Given the description of an element on the screen output the (x, y) to click on. 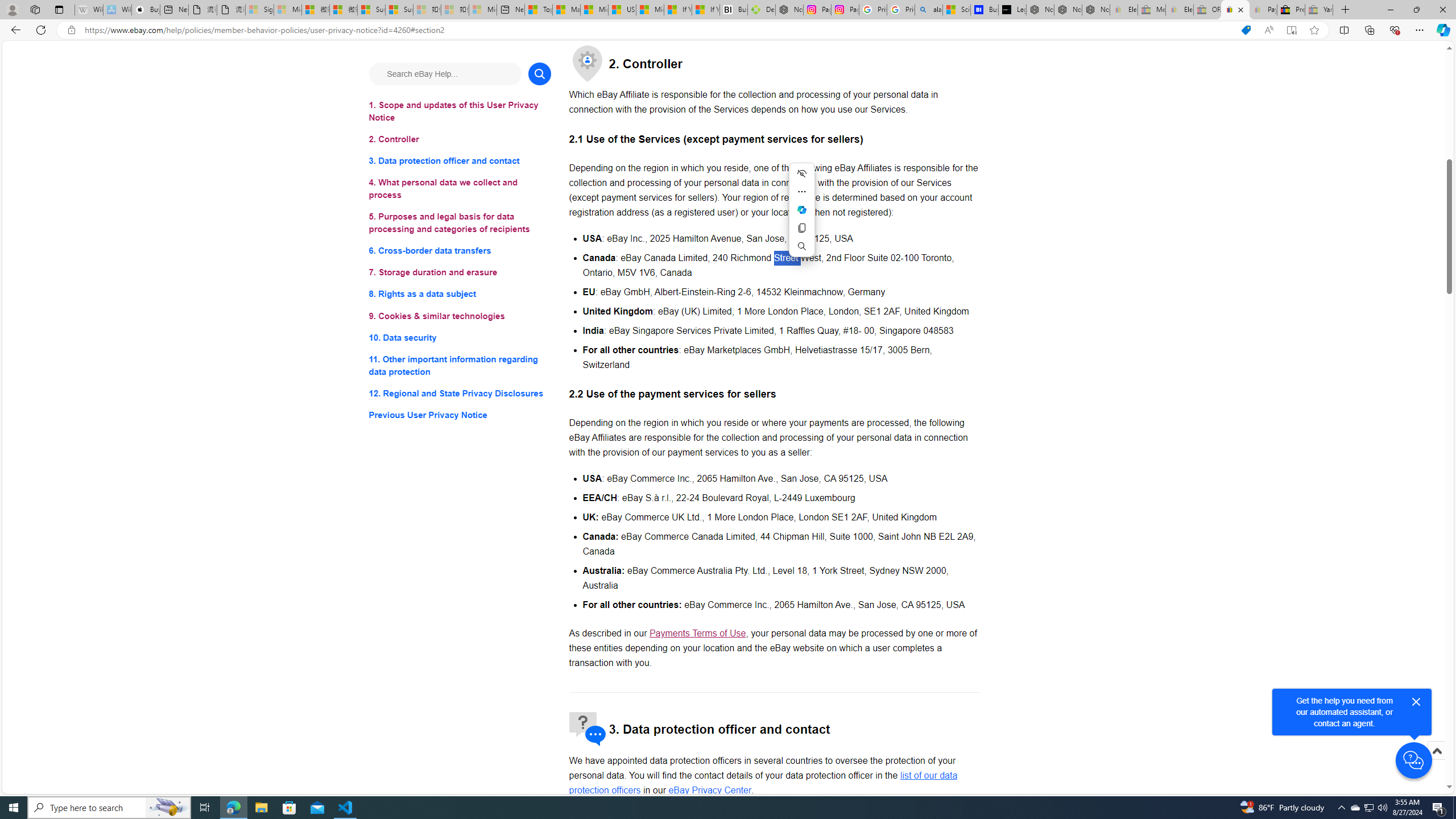
Hide menu (801, 173)
7. Storage duration and erasure (459, 272)
Search eBay Help... (444, 73)
